Given the description of an element on the screen output the (x, y) to click on. 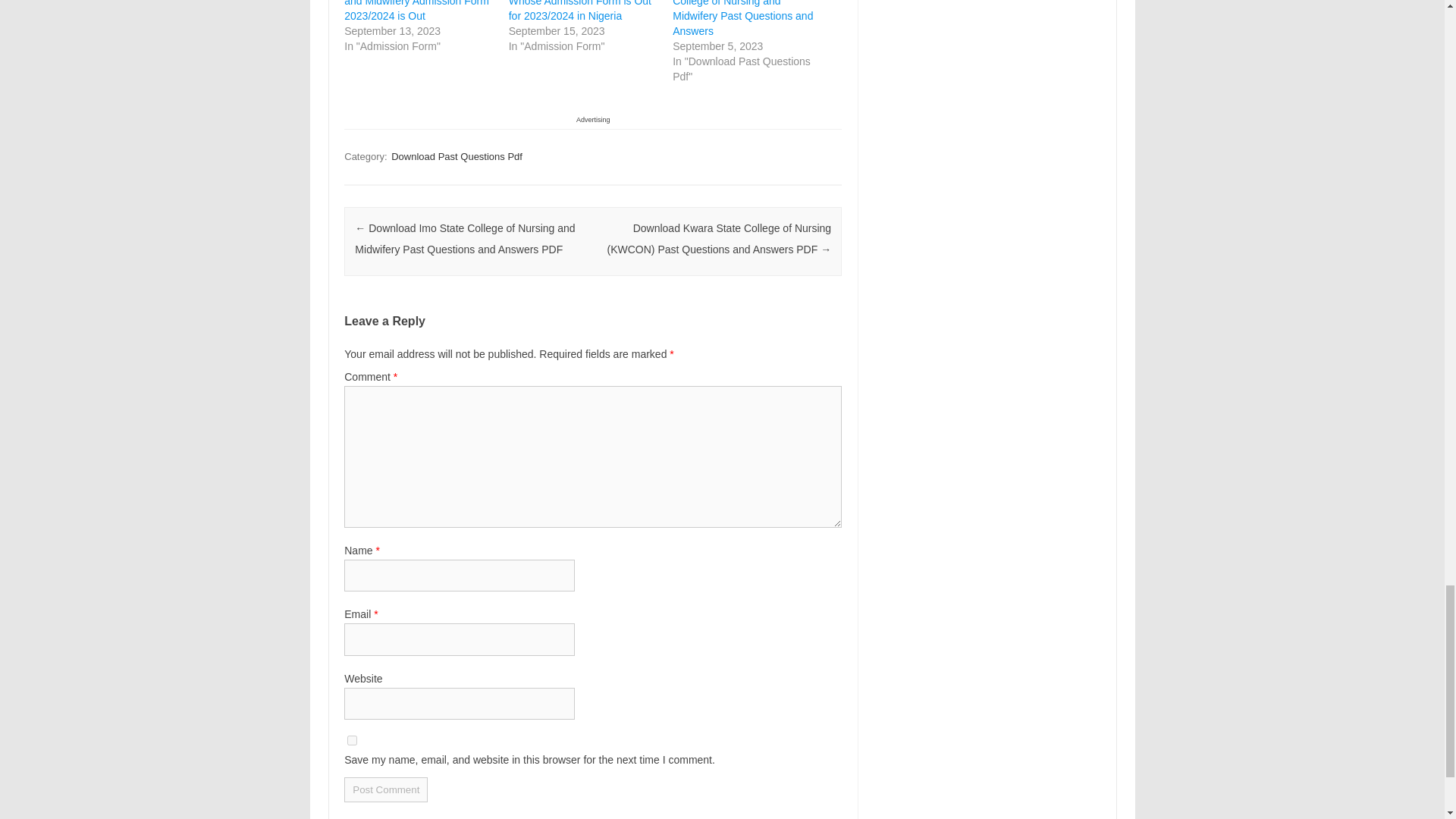
Post Comment (385, 789)
yes (351, 740)
Post Comment (385, 789)
Download Past Questions Pdf (457, 156)
